Given the description of an element on the screen output the (x, y) to click on. 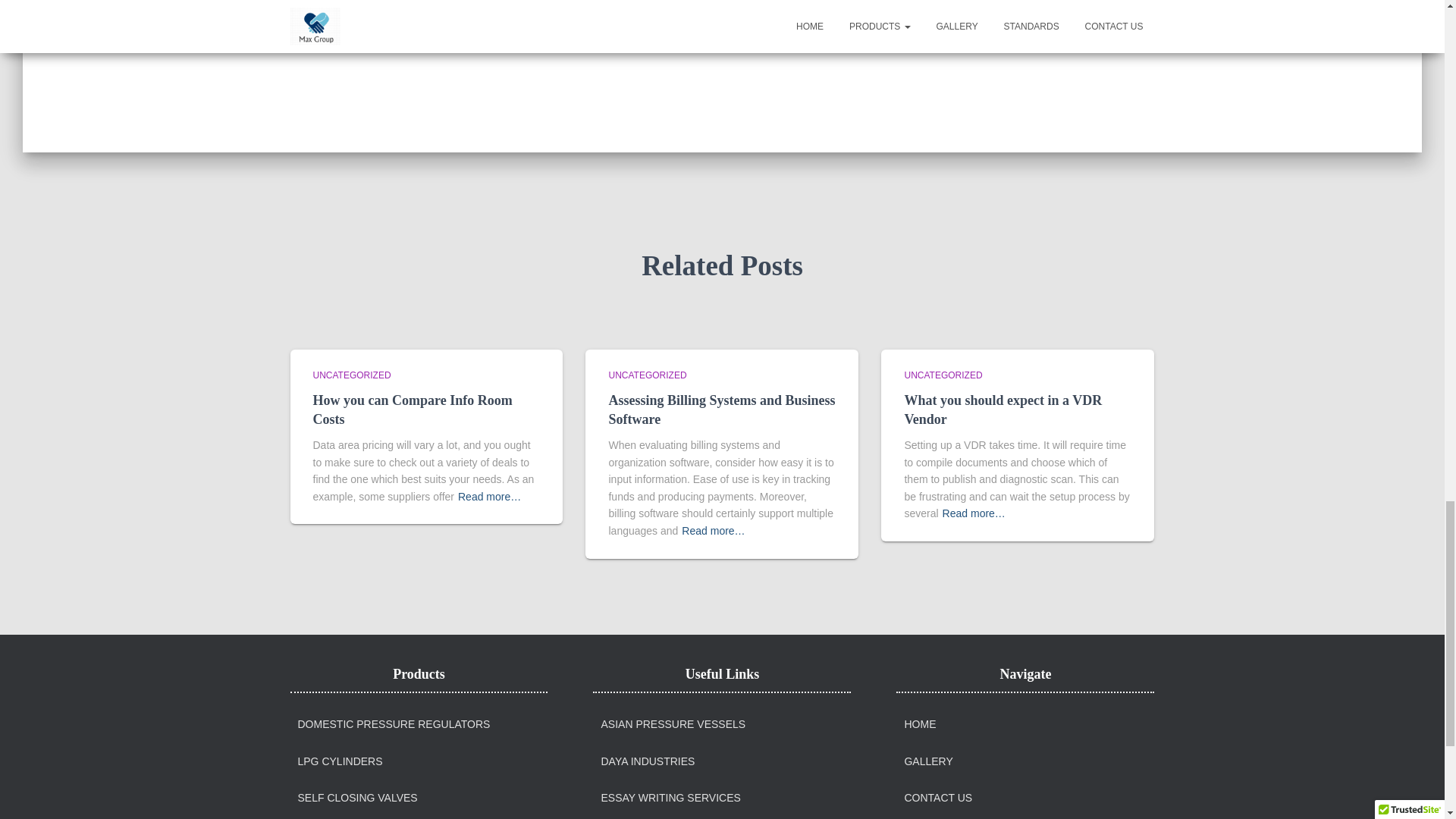
Post Comment (946, 17)
How you can Compare Info Room Costs (412, 409)
ESSAY WRITING SERVICES (669, 798)
View all posts in Uncategorized (942, 375)
UNCATEGORIZED (646, 375)
GALLERY (928, 761)
Assessing Billing Systems and Business Software (721, 409)
SELF CLOSING VALVES (356, 798)
Post Comment (946, 17)
Assessing Billing Systems and Business Software (721, 409)
UNCATEGORIZED (942, 375)
What you should expect in a VDR Vendor (1003, 409)
DAYA INDUSTRIES (646, 761)
View all posts in Uncategorized (646, 375)
CONTACT US (938, 798)
